Given the description of an element on the screen output the (x, y) to click on. 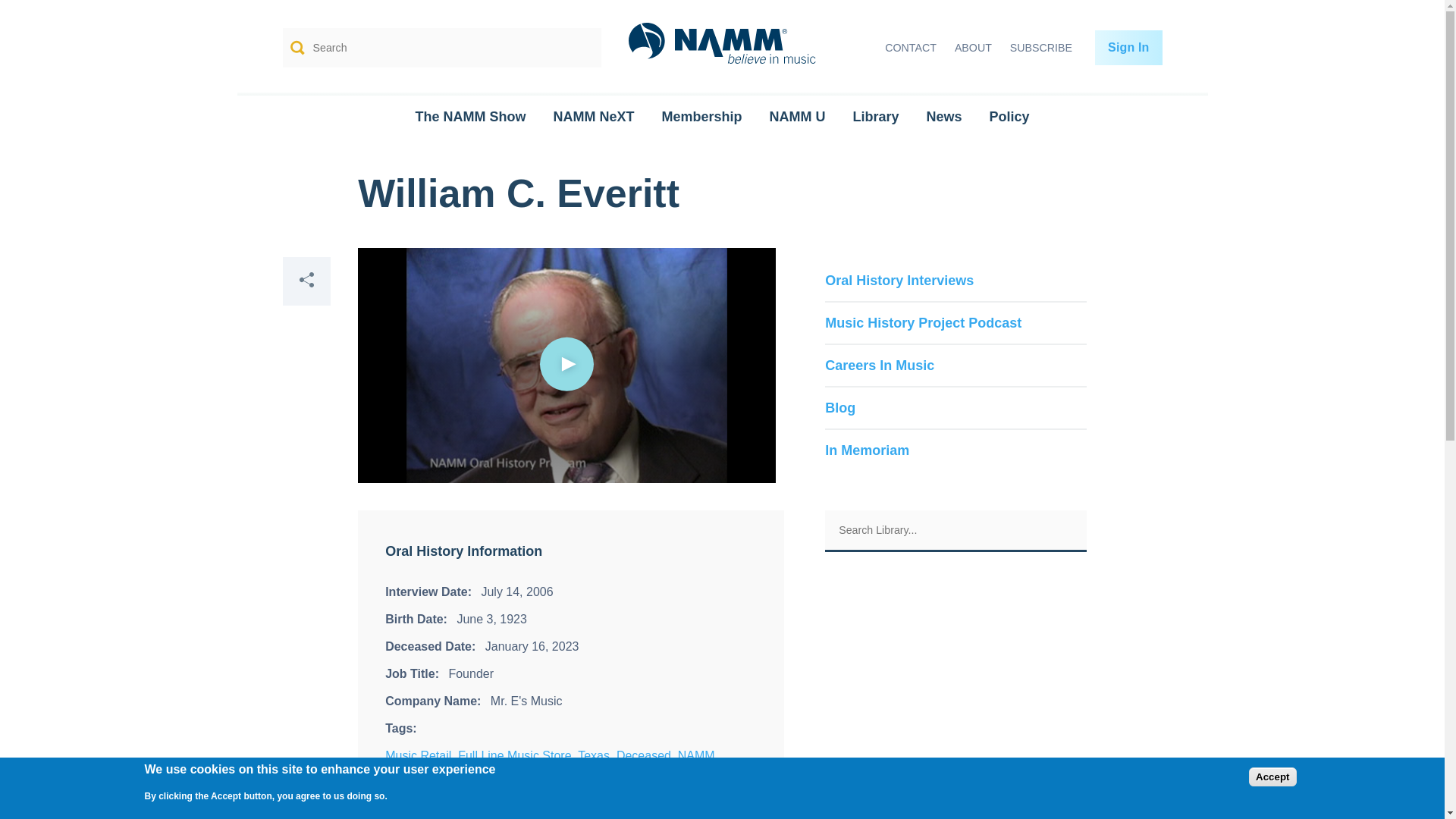
Policy (1009, 116)
NAMM NeXT (592, 116)
NAMM U (796, 116)
NAMM Home (721, 47)
About (972, 47)
Library (875, 116)
Apply (579, 47)
The NAMM Show (469, 116)
CONTACT (910, 47)
Sign In (1127, 47)
SUBSCRIBE (1041, 47)
ABOUT (972, 47)
News (943, 116)
Manage Your Subscriptions to NAMM communications (1041, 47)
